Given the description of an element on the screen output the (x, y) to click on. 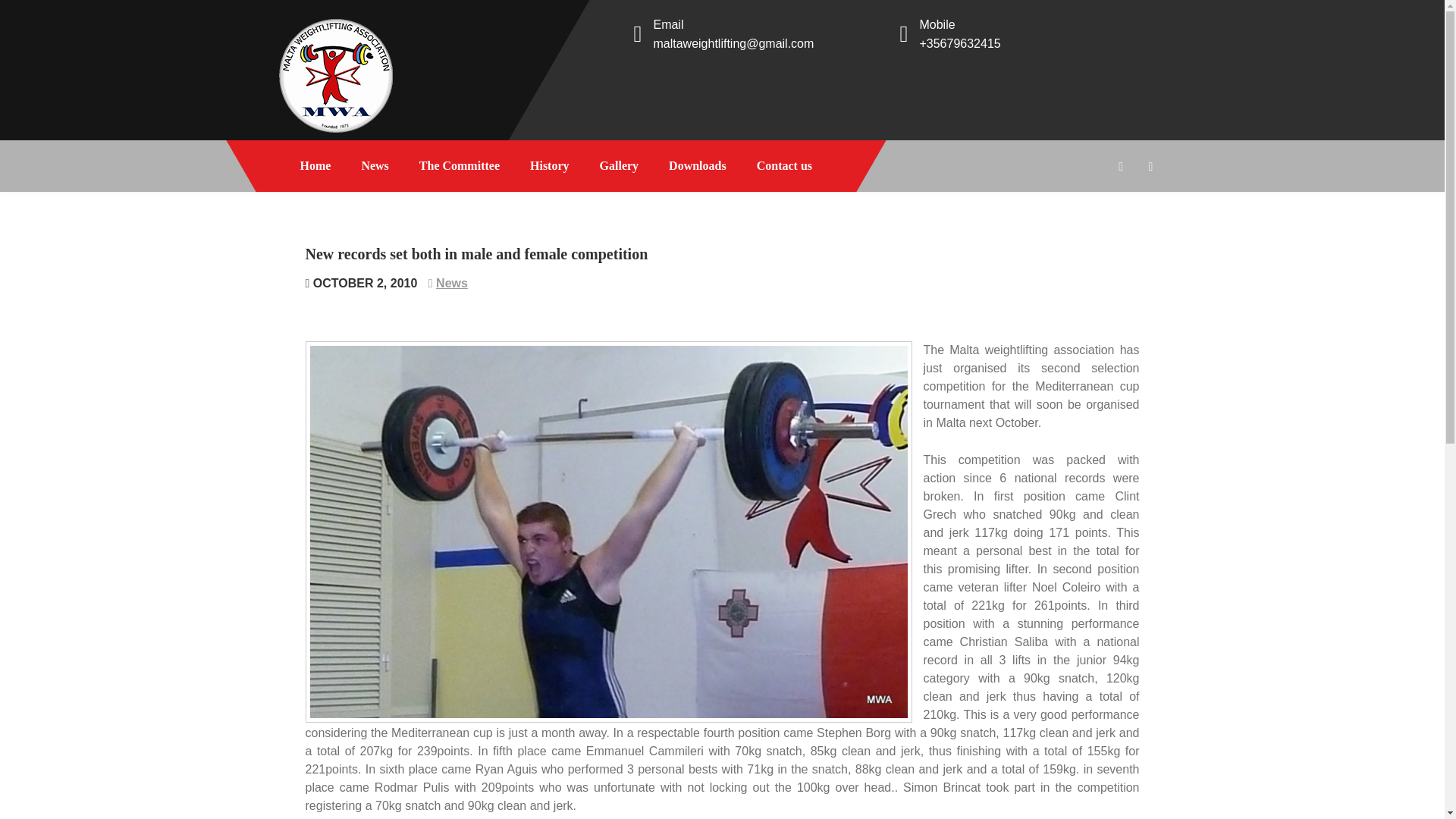
History (549, 165)
Downloads (697, 165)
News (374, 165)
News (451, 282)
Malta Weightlifting Association (381, 161)
The Committee (459, 165)
Gallery (619, 165)
Contact us (783, 165)
Home (315, 165)
